Given the description of an element on the screen output the (x, y) to click on. 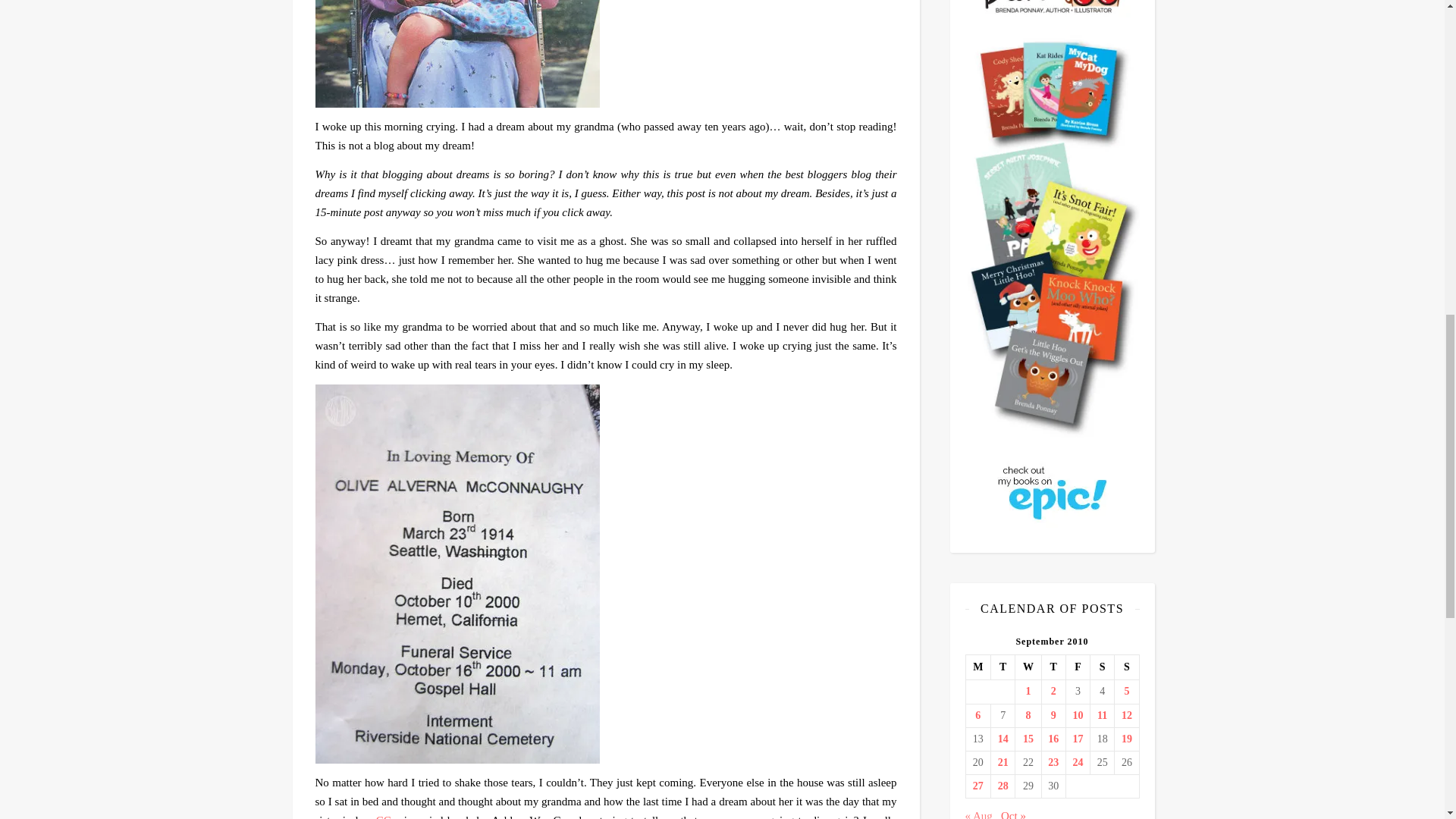
Friday (1077, 667)
Wednesday (1027, 667)
Monday (978, 667)
5 (1125, 691)
Saturday (1102, 667)
2 (1052, 691)
10 (1077, 715)
Thursday (1053, 667)
